Given the description of an element on the screen output the (x, y) to click on. 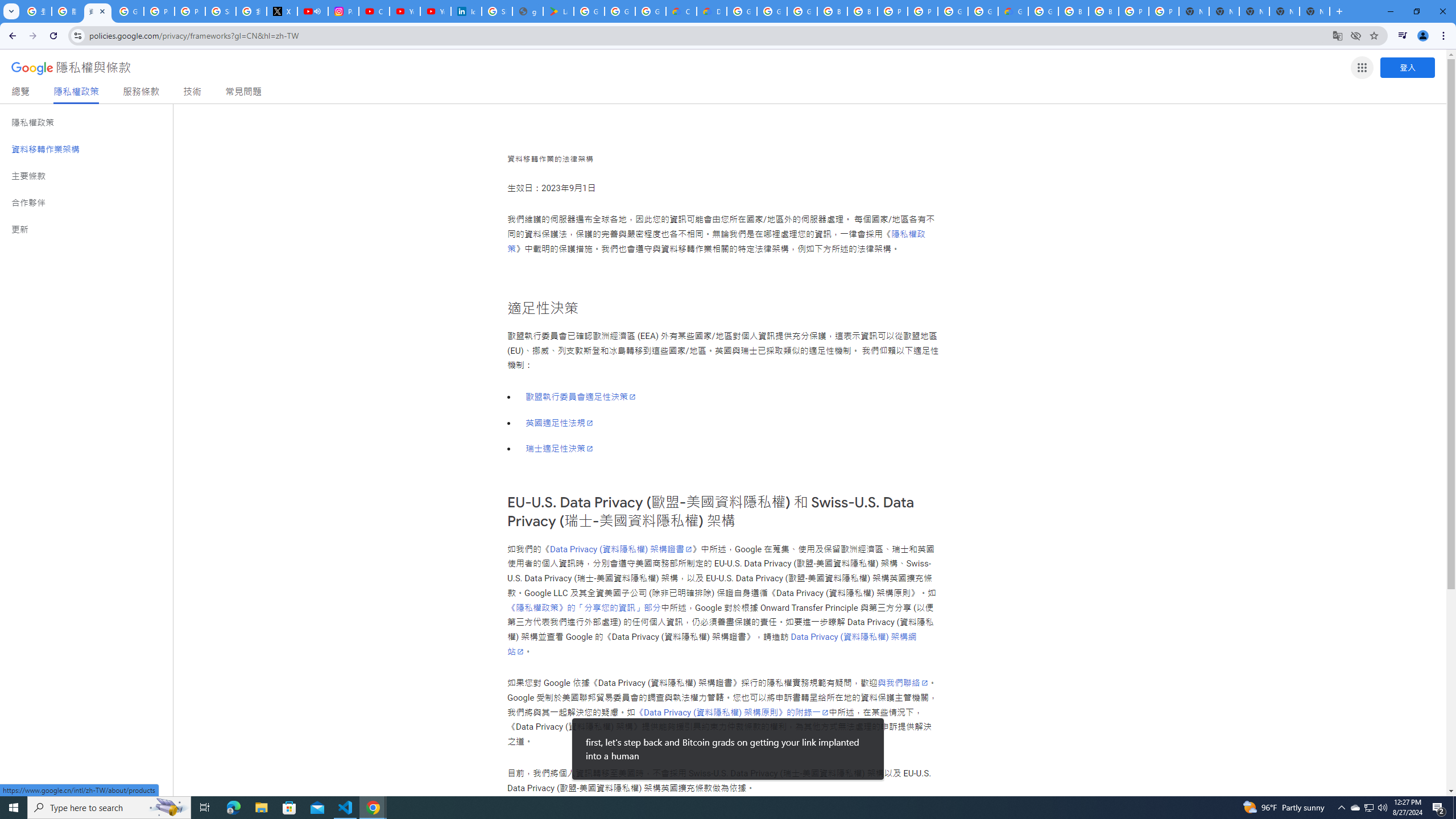
Sign in - Google Accounts (496, 11)
Translate this page (1336, 35)
Google Cloud Platform (741, 11)
Google Cloud Platform (1042, 11)
Privacy Help Center - Policies Help (158, 11)
Google Workspace - Specific Terms (619, 11)
